Given the description of an element on the screen output the (x, y) to click on. 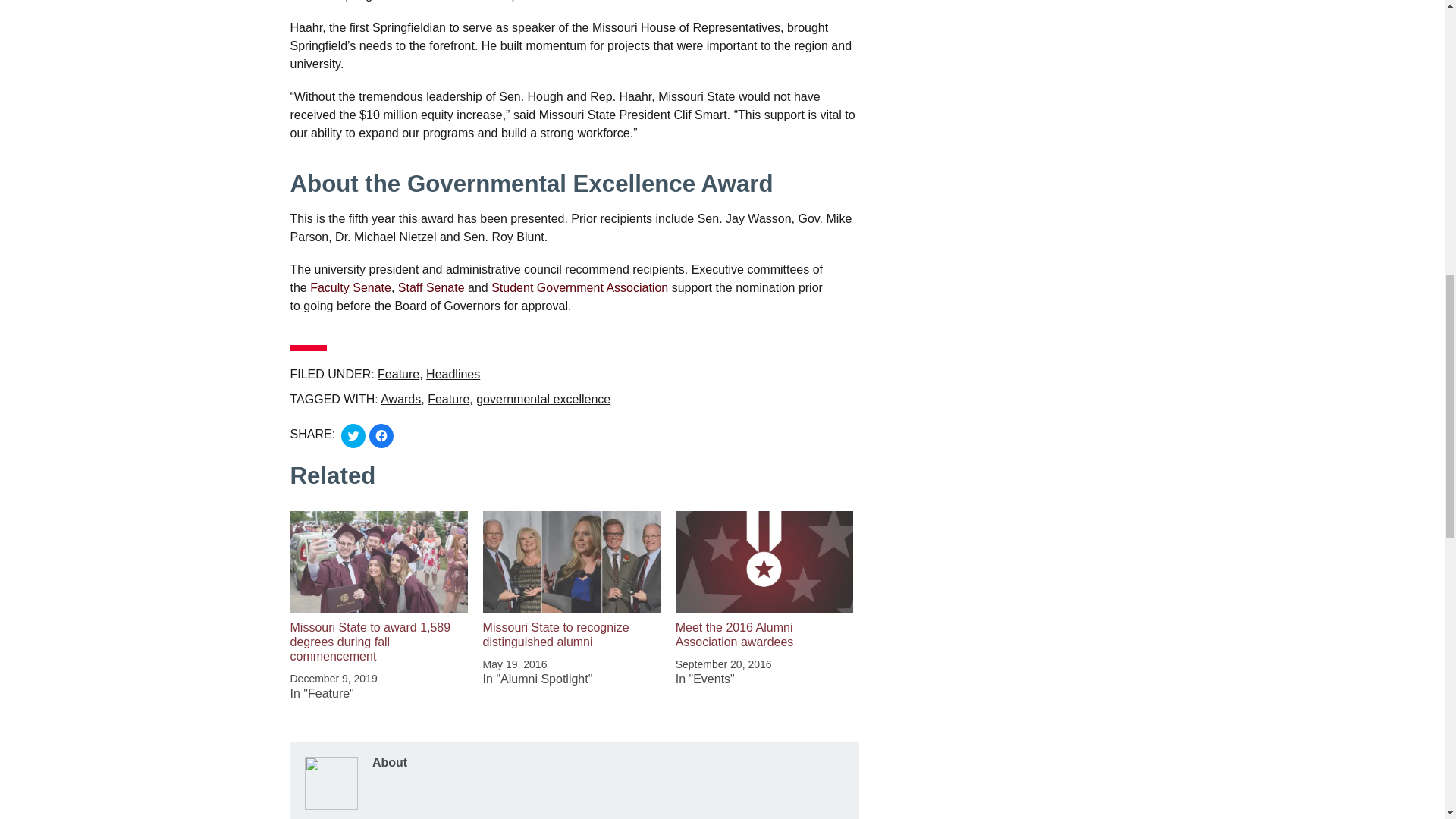
Click to share on Facebook (381, 435)
Click to share on Twitter (352, 435)
Missouri State to recognize distinguished alumni (572, 561)
Missouri State to recognize distinguished alumni (555, 634)
Meet the 2016 Alumni Association awardees (734, 634)
Meet the 2016 Alumni Association awardees (764, 561)
